Given the description of an element on the screen output the (x, y) to click on. 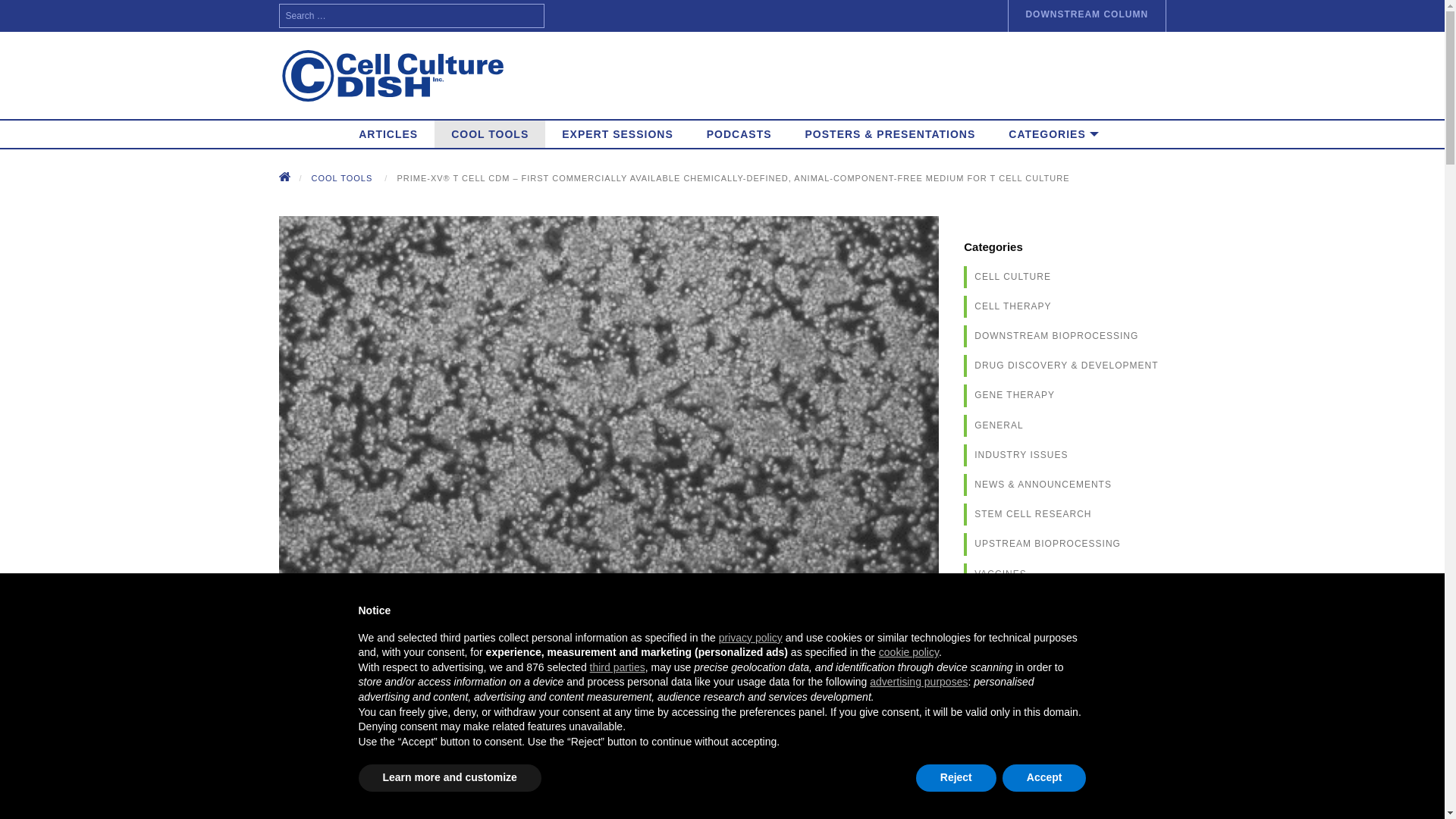
DOWNSTREAM COLUMN (1086, 15)
EXPERT SESSIONS (616, 134)
COOL TOOLS (341, 177)
ARTICLES (387, 134)
THE DISH (509, 816)
CATEGORIES (1046, 134)
PODCASTS (739, 134)
COOL TOOLS (488, 134)
